Given the description of an element on the screen output the (x, y) to click on. 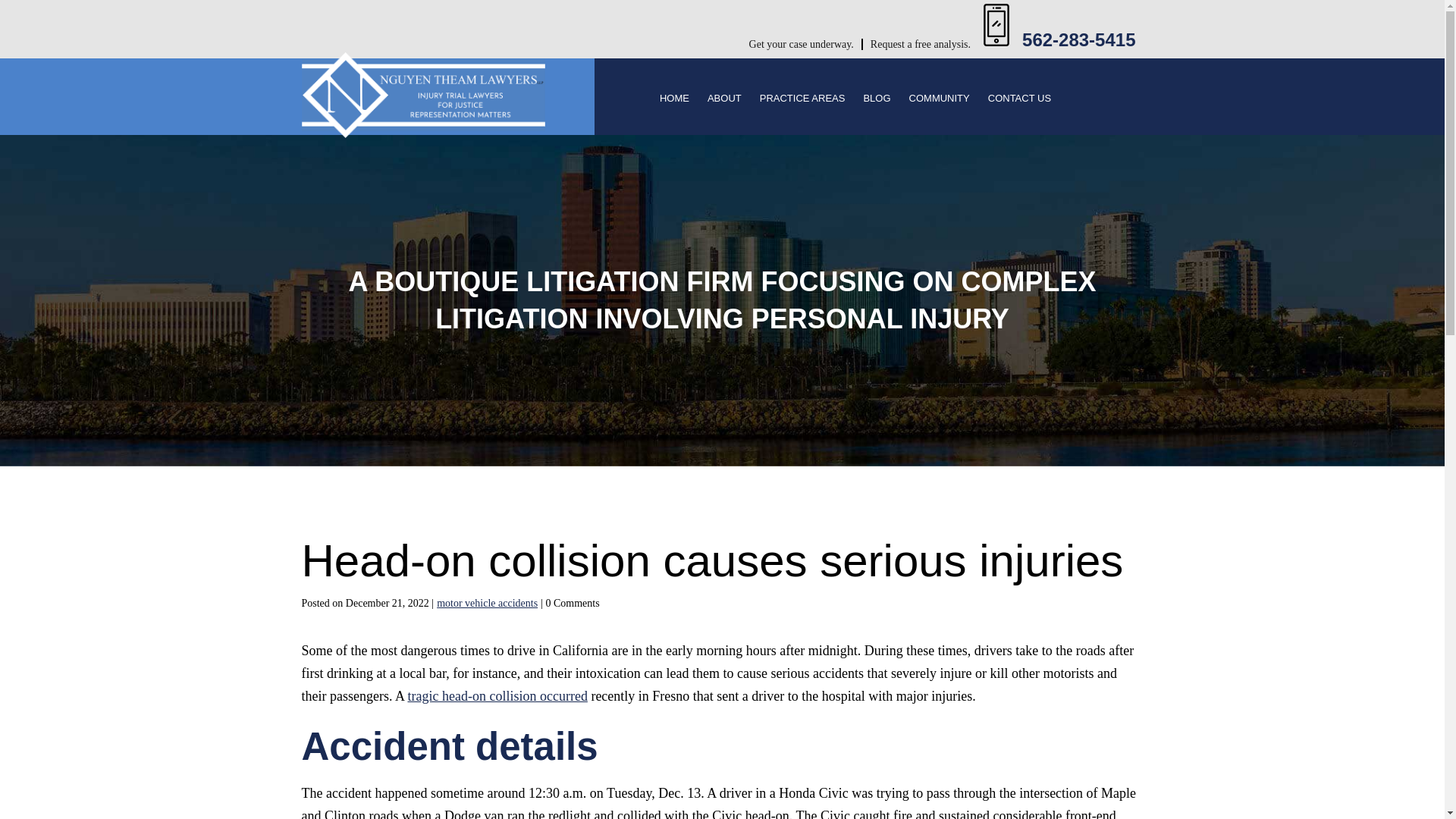
Get your case underway. (802, 43)
HOME (673, 99)
Request a free analysis. (920, 43)
COMMUNITY (938, 99)
BLOG (876, 99)
ABOUT (724, 99)
PRACTICE AREAS (802, 99)
tragic head-on collision occurred (496, 695)
562-283-5415 (1078, 39)
CONTACT US (1019, 99)
motor vehicle accidents (486, 603)
